Given the description of an element on the screen output the (x, y) to click on. 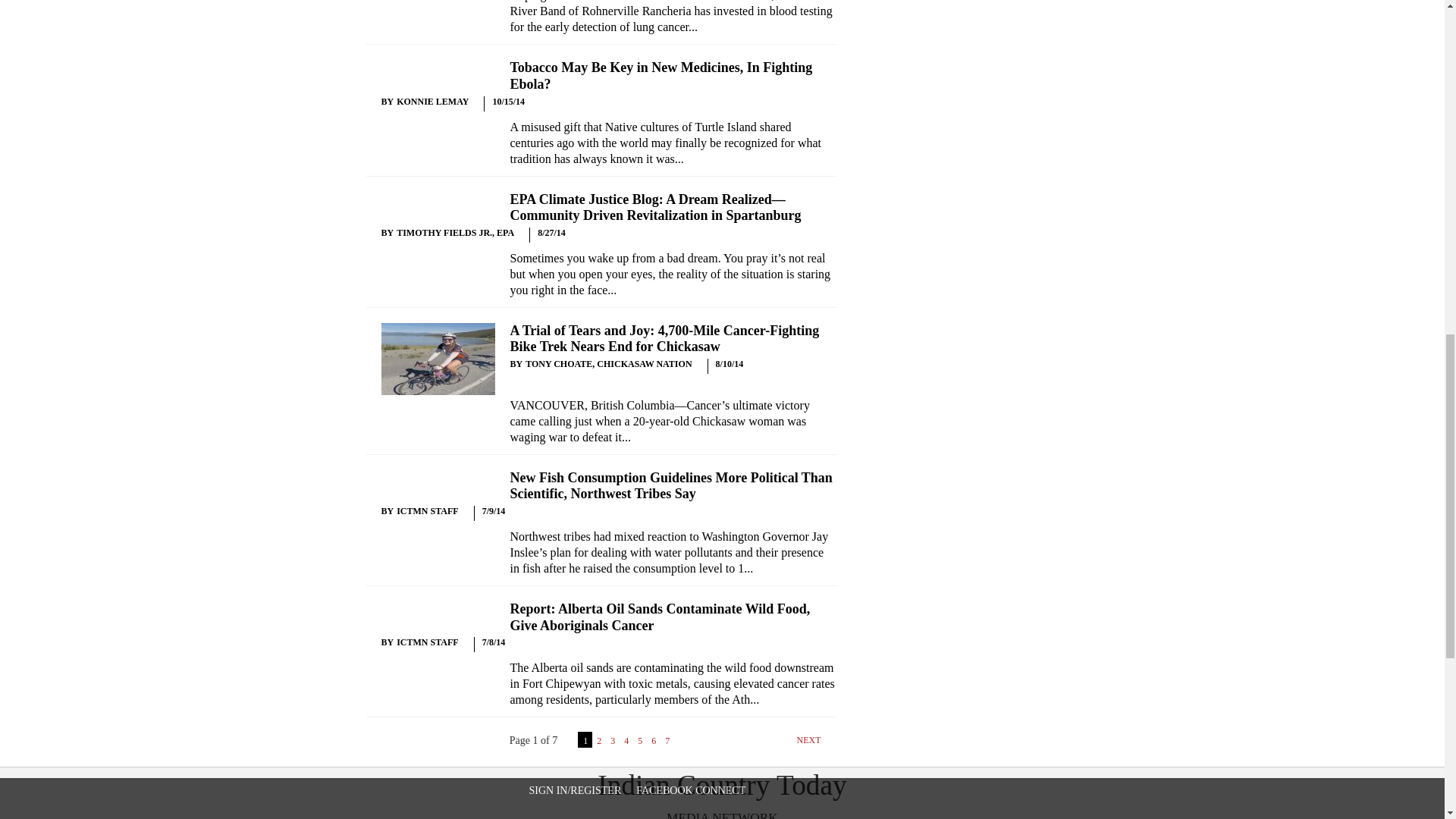
Go to last page (707, 744)
